Given the description of an element on the screen output the (x, y) to click on. 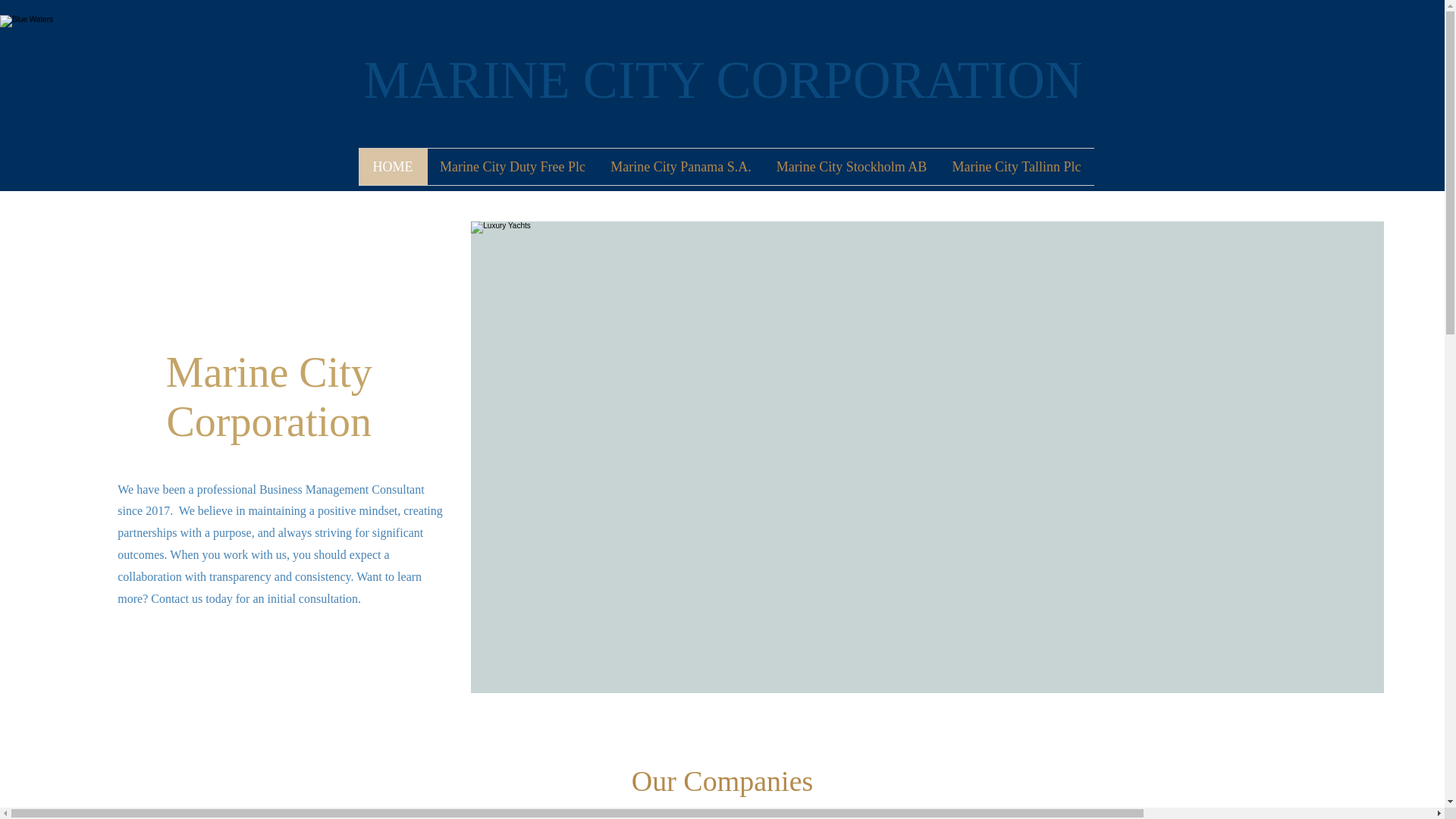
HOME (392, 166)
Marine City Panama S.A. (679, 166)
Marine City Duty Free Plc (513, 166)
Marine City Tallinn Plc (1016, 166)
Marine City Stockholm AB (851, 166)
